Given the description of an element on the screen output the (x, y) to click on. 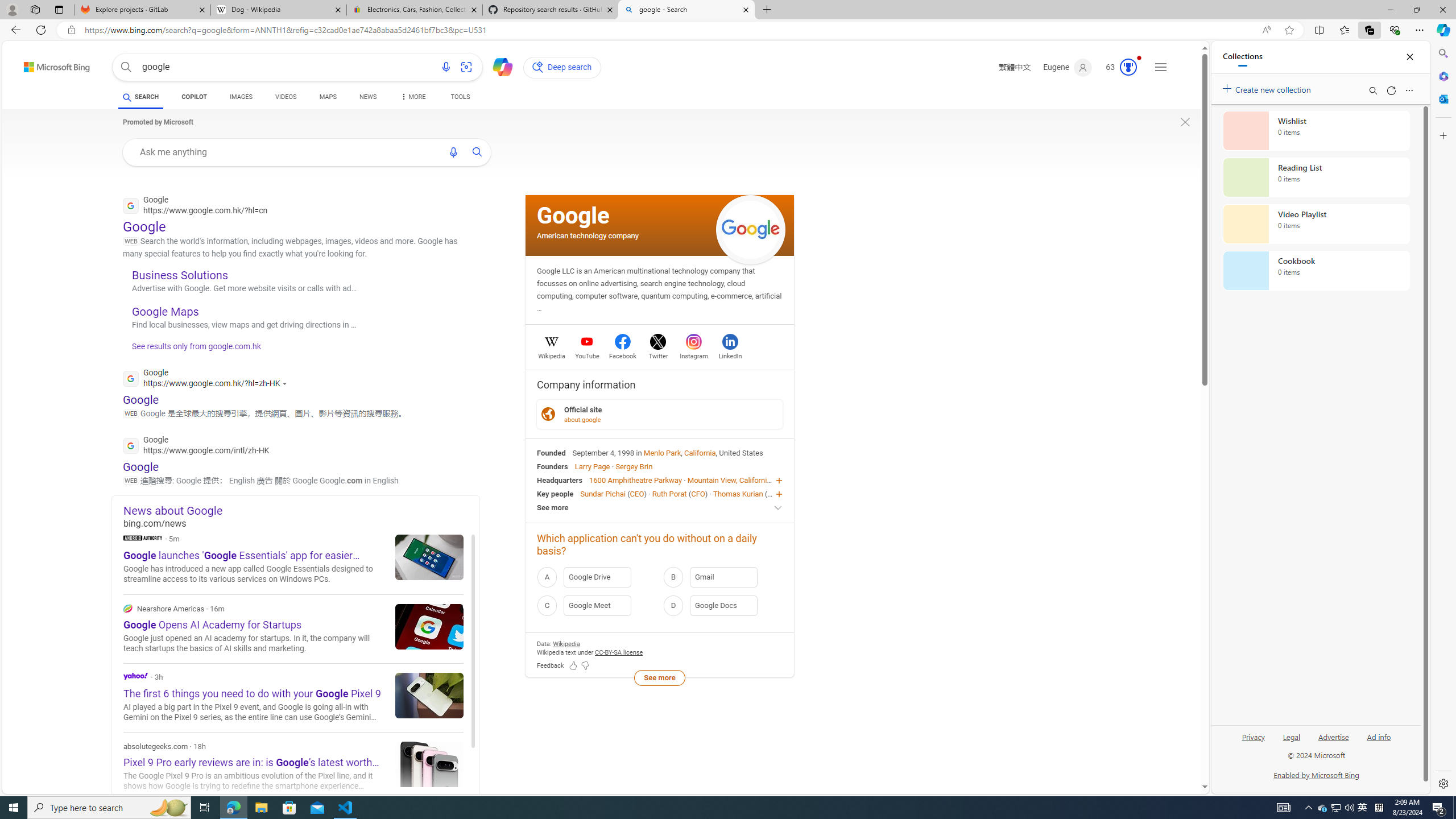
Google Maps (165, 311)
Chat (497, 65)
D Google Docs (722, 605)
Yahoo (135, 675)
CEO (774, 492)
CC-BY-SA license (619, 652)
Mountain View, California (729, 479)
AutomationID: serp_medal_svg (1128, 67)
Founded (551, 452)
Dropdown Menu (412, 96)
